Given the description of an element on the screen output the (x, y) to click on. 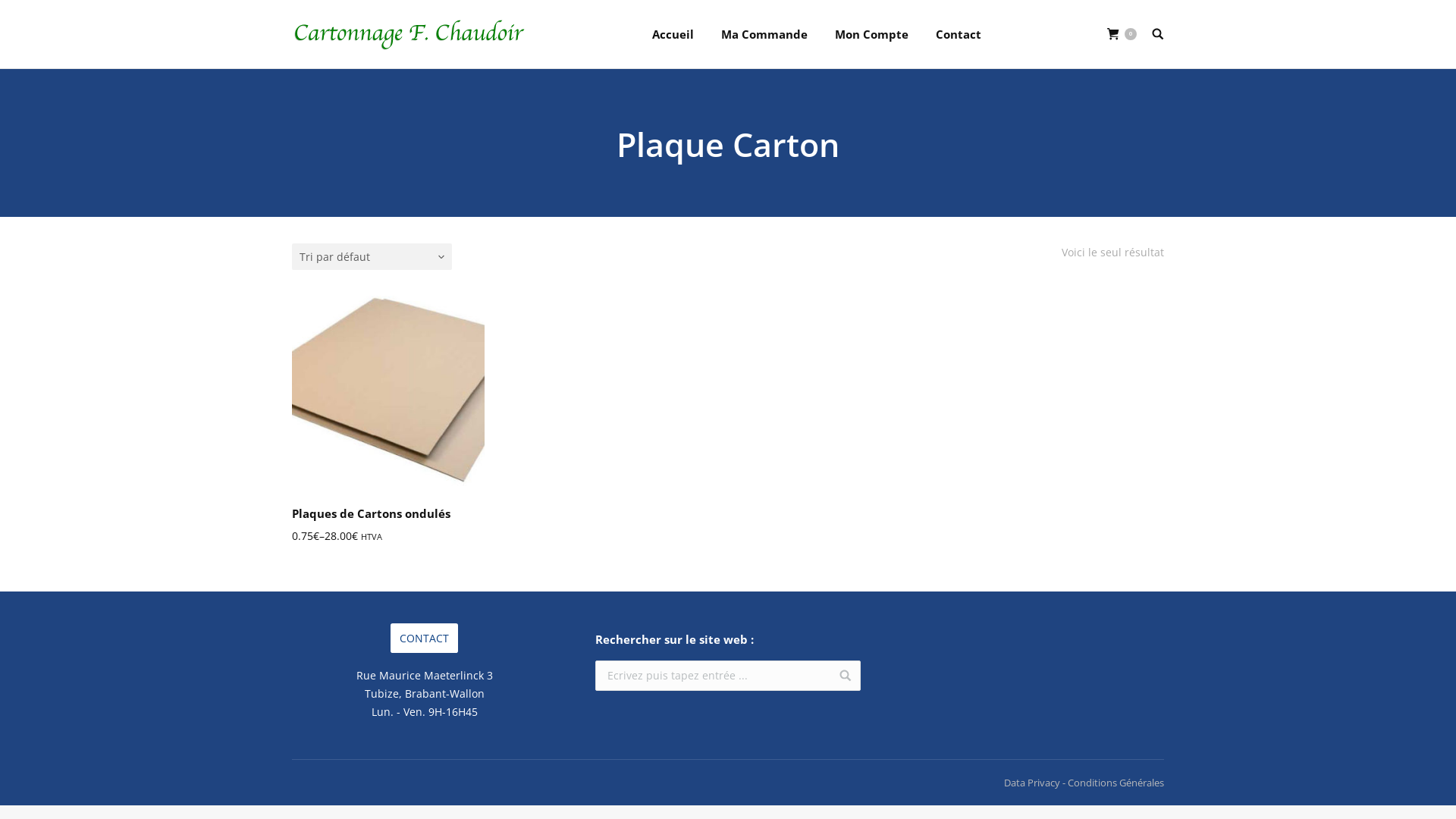
 0 Element type: text (1121, 34)
  Element type: text (1157, 33)
Mon Compte Element type: text (871, 33)
Go! Element type: text (839, 675)
CONTACT Element type: text (424, 637)
Go! Element type: text (20, 14)
Ma Commande Element type: text (764, 33)
Contact Element type: text (958, 33)
Data Privacy Element type: text (1032, 782)
Accueil Element type: text (672, 33)
